Given the description of an element on the screen output the (x, y) to click on. 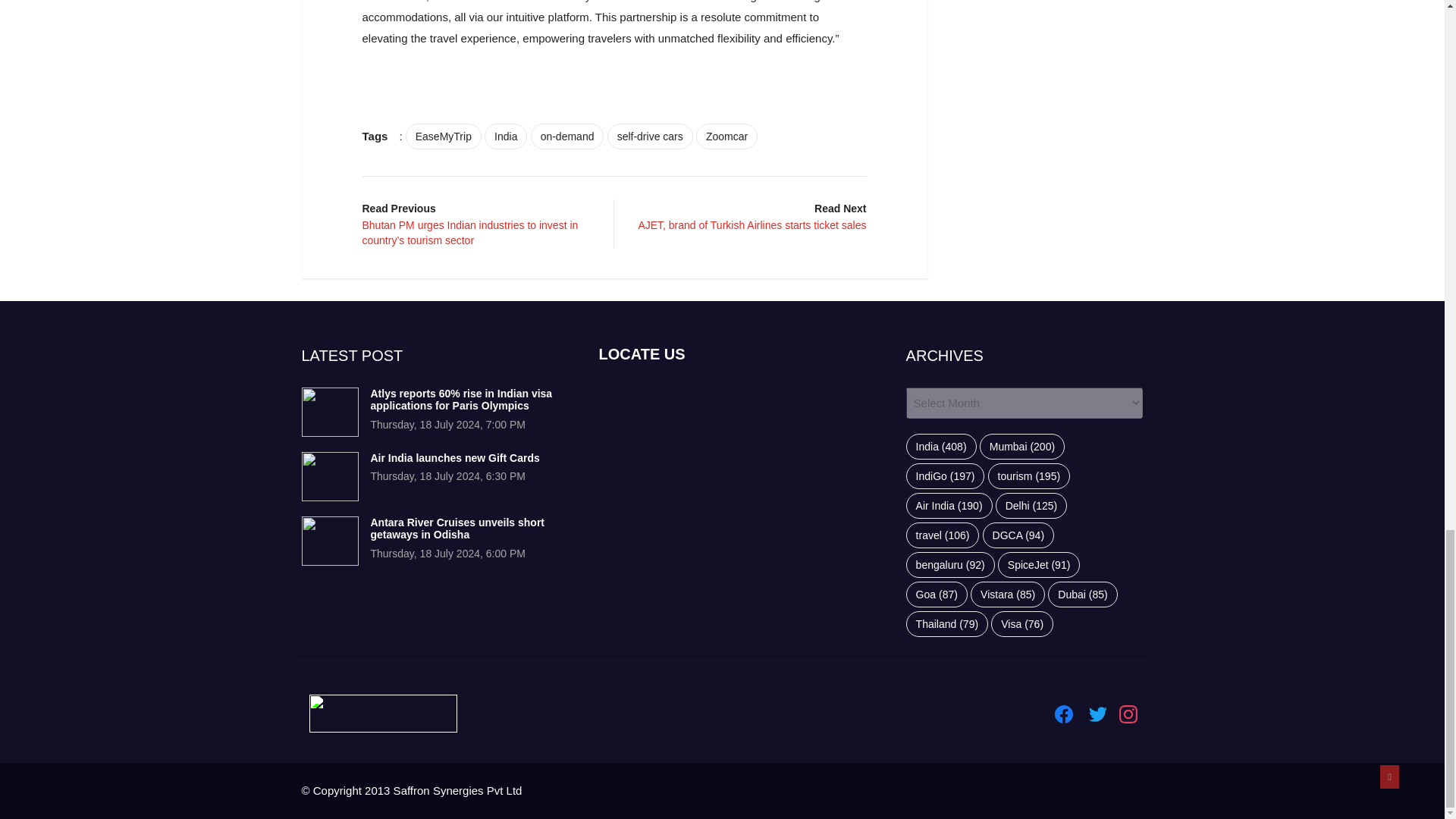
Antara River Cruises unveils short getaways in Odisha (456, 528)
Twitter (1097, 714)
Air India launches new Gift Cards (453, 458)
Facebook (1063, 714)
Antara River Cruises unveils short getaways in Odisha (329, 540)
Air India launches new Gift Cards (329, 476)
Instagram (1128, 714)
